Given the description of an element on the screen output the (x, y) to click on. 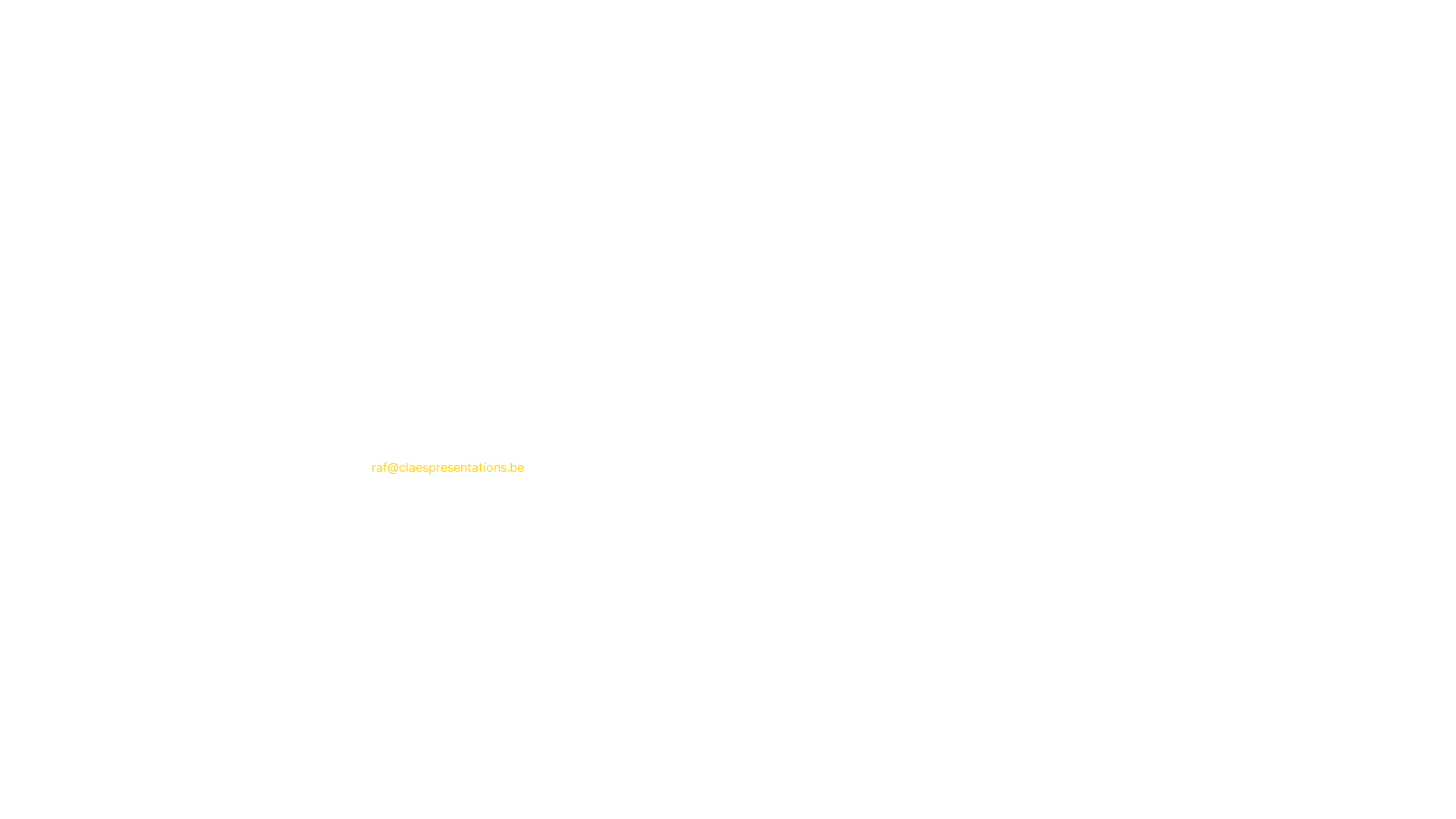
raf@claespresentations.be Element type: text (447, 466)
